Given the description of an element on the screen output the (x, y) to click on. 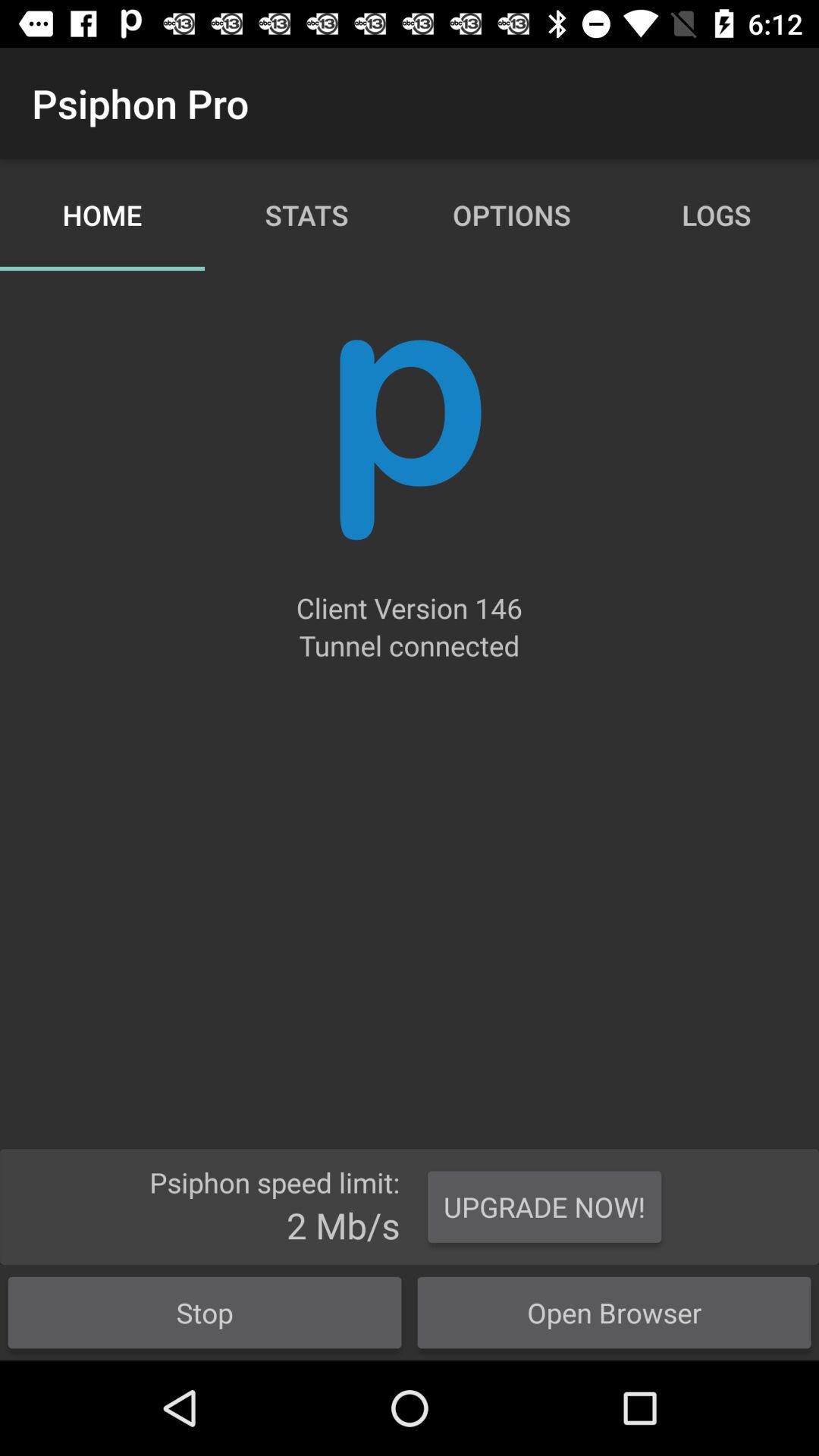
tap the open browser button (614, 1312)
